Given the description of an element on the screen output the (x, y) to click on. 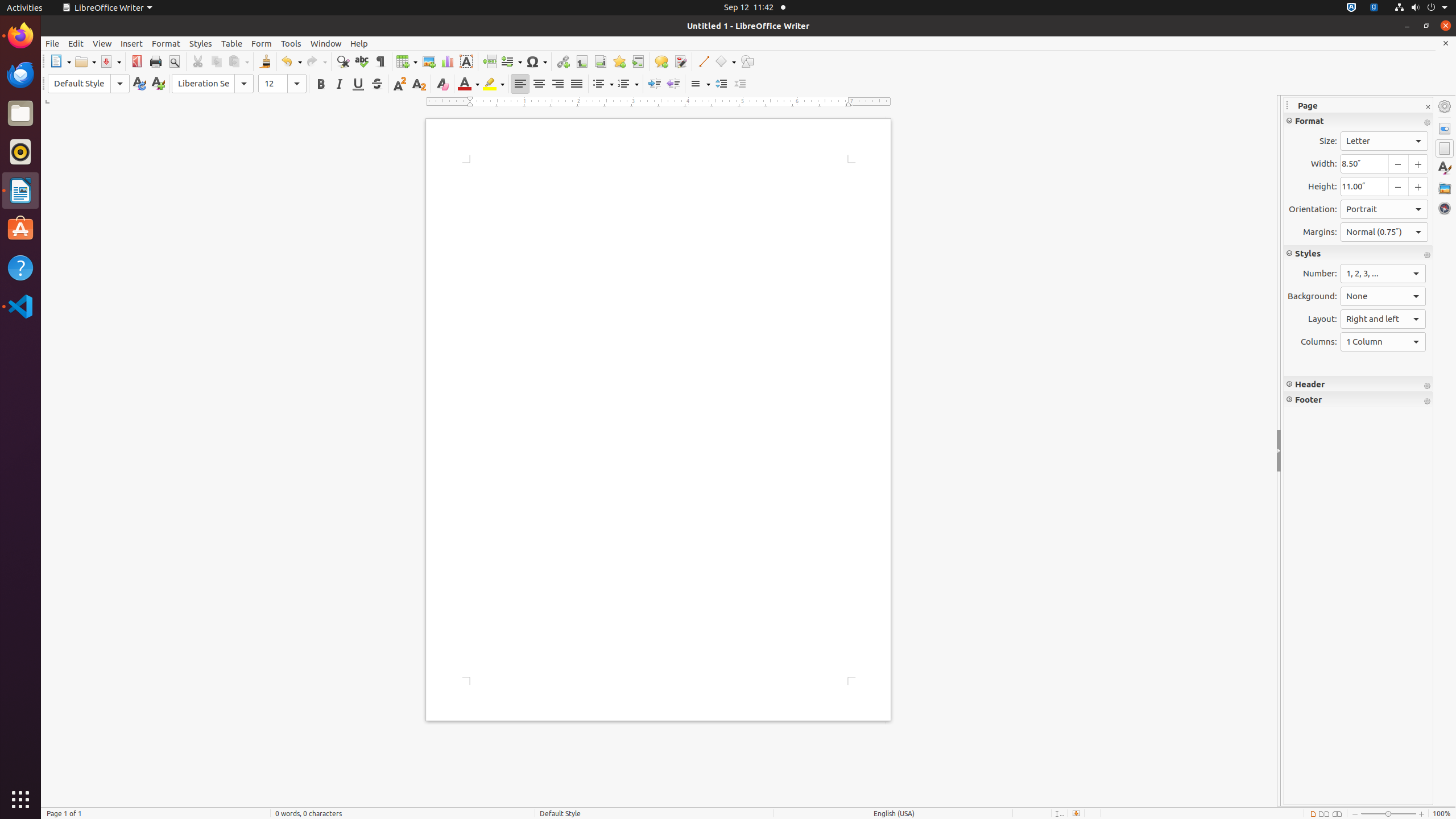
Tools Element type: menu (290, 43)
Decrease Element type: push-button (739, 83)
Form Element type: menu (261, 43)
Formatting Marks Element type: toggle-button (379, 61)
Italic Element type: toggle-button (338, 83)
